Given the description of an element on the screen output the (x, y) to click on. 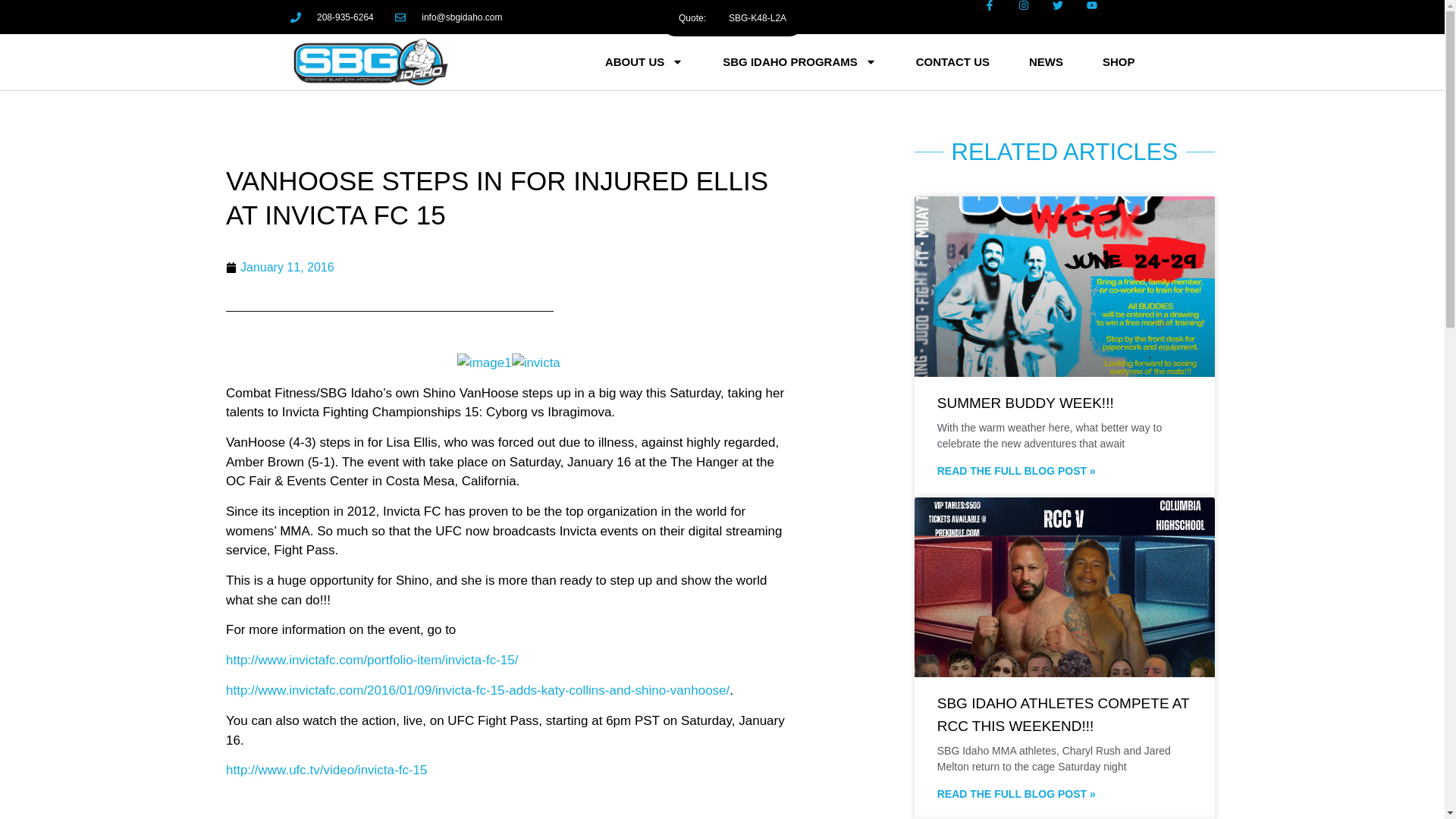
SBG IDAHO PROGRAMS (799, 61)
SHOP (1118, 61)
NEWS (1046, 61)
ABOUT US (644, 61)
CONTACT US (952, 61)
January 11, 2016 (279, 267)
